Given the description of an element on the screen output the (x, y) to click on. 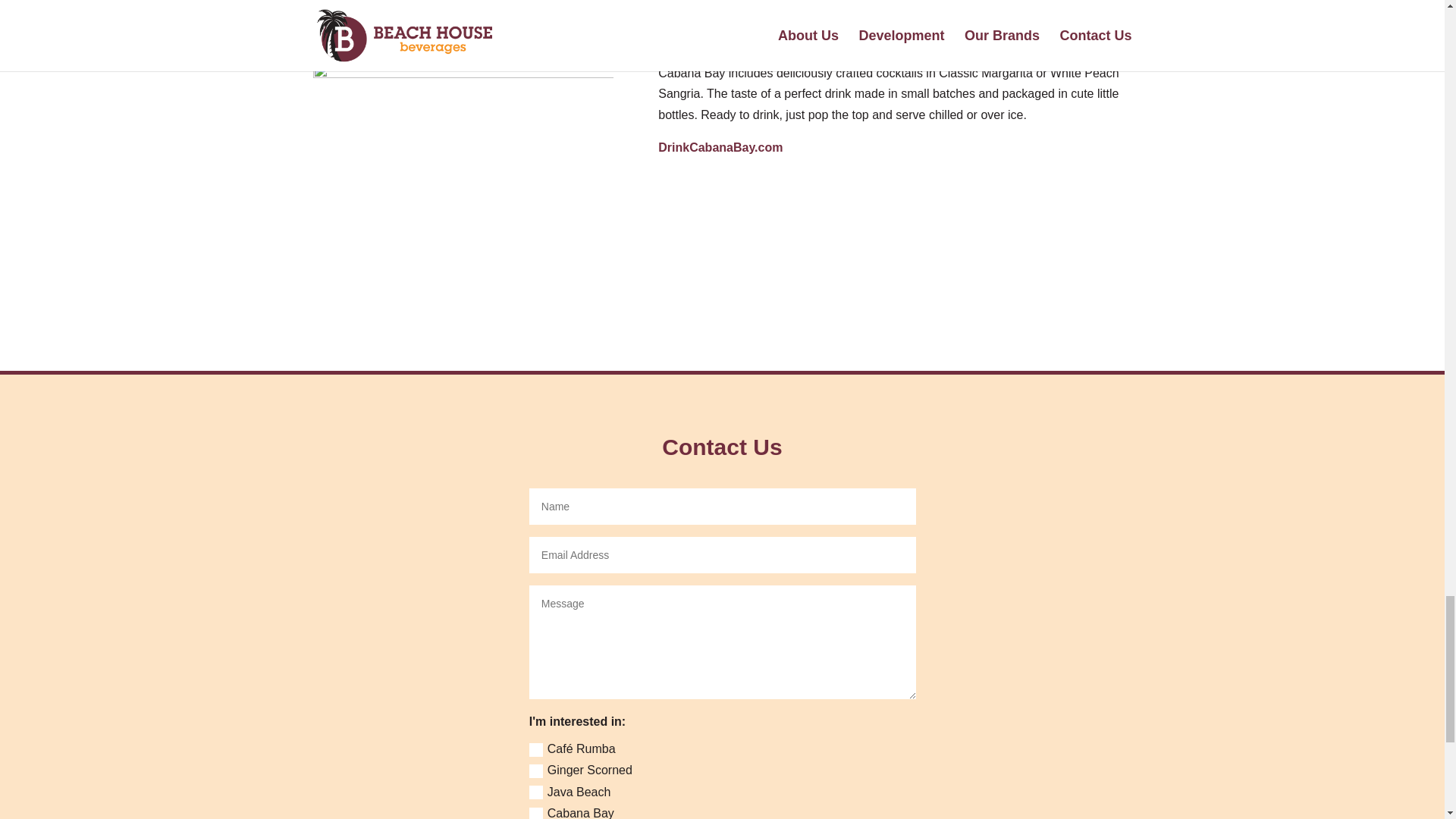
CabanaBay-Logo-Top (462, 174)
DrinkCabanaBay.com (720, 146)
